Given the description of an element on the screen output the (x, y) to click on. 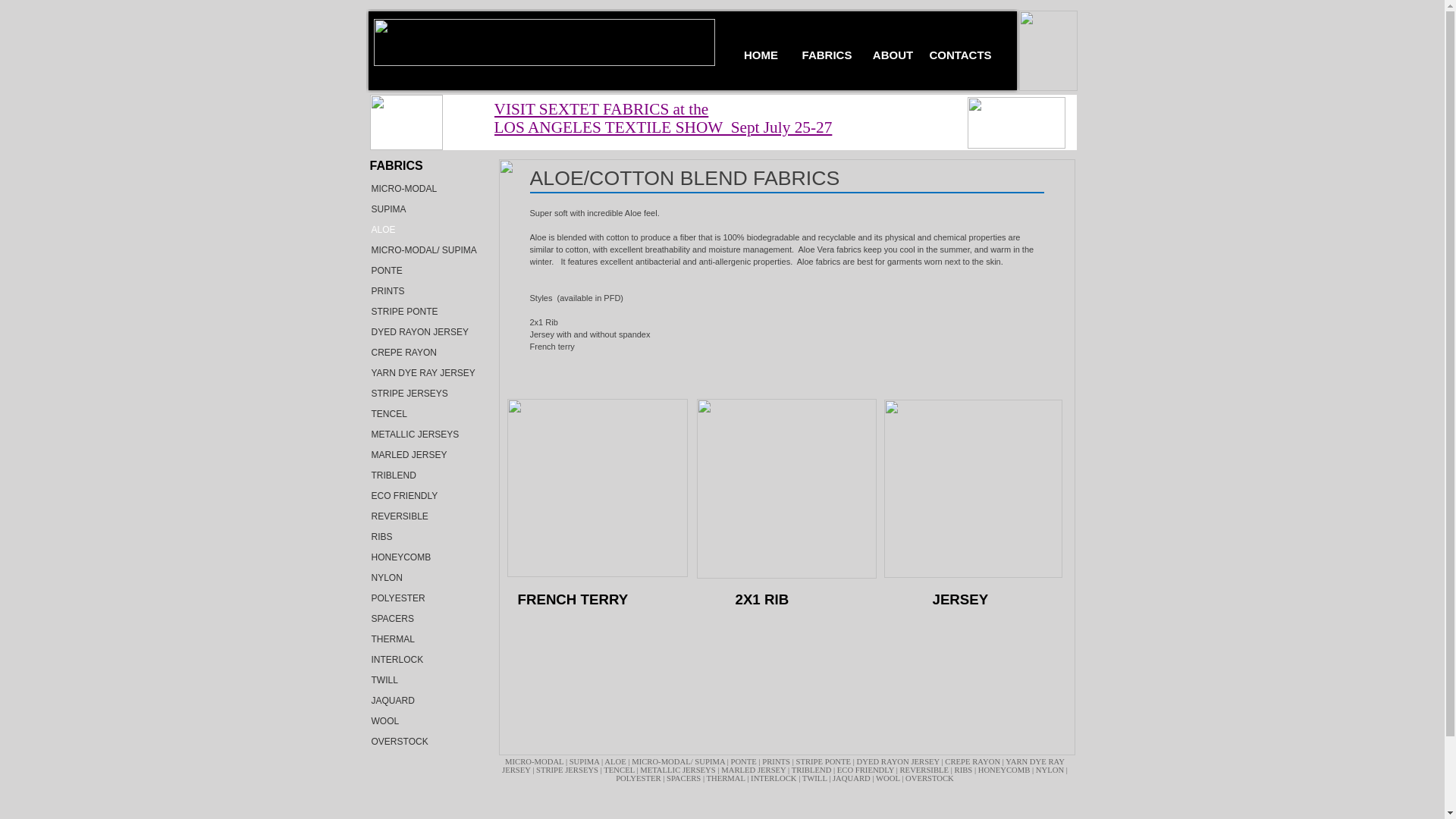
Ribs (425, 536)
YARN DYE RAY JERSEY (425, 372)
DYED RAYON JERSEY (425, 331)
cotton, cotton interlock, interlock, mask fabric (425, 659)
SPACERS (425, 618)
MICRO-MODAL (535, 761)
MICRO-MODAL (425, 188)
CREPE RAYON (425, 352)
SUPIMA (585, 761)
VISIT SEXTET FABRICS at the (602, 108)
SUPIMA (425, 209)
STRIPE JERSEYS (425, 393)
THERMAL (425, 638)
Thermal, Waffle, Stretch, Texture (425, 638)
Knitted Spacer Fabrics.  Great Stretch and Compression (425, 618)
